Given the description of an element on the screen output the (x, y) to click on. 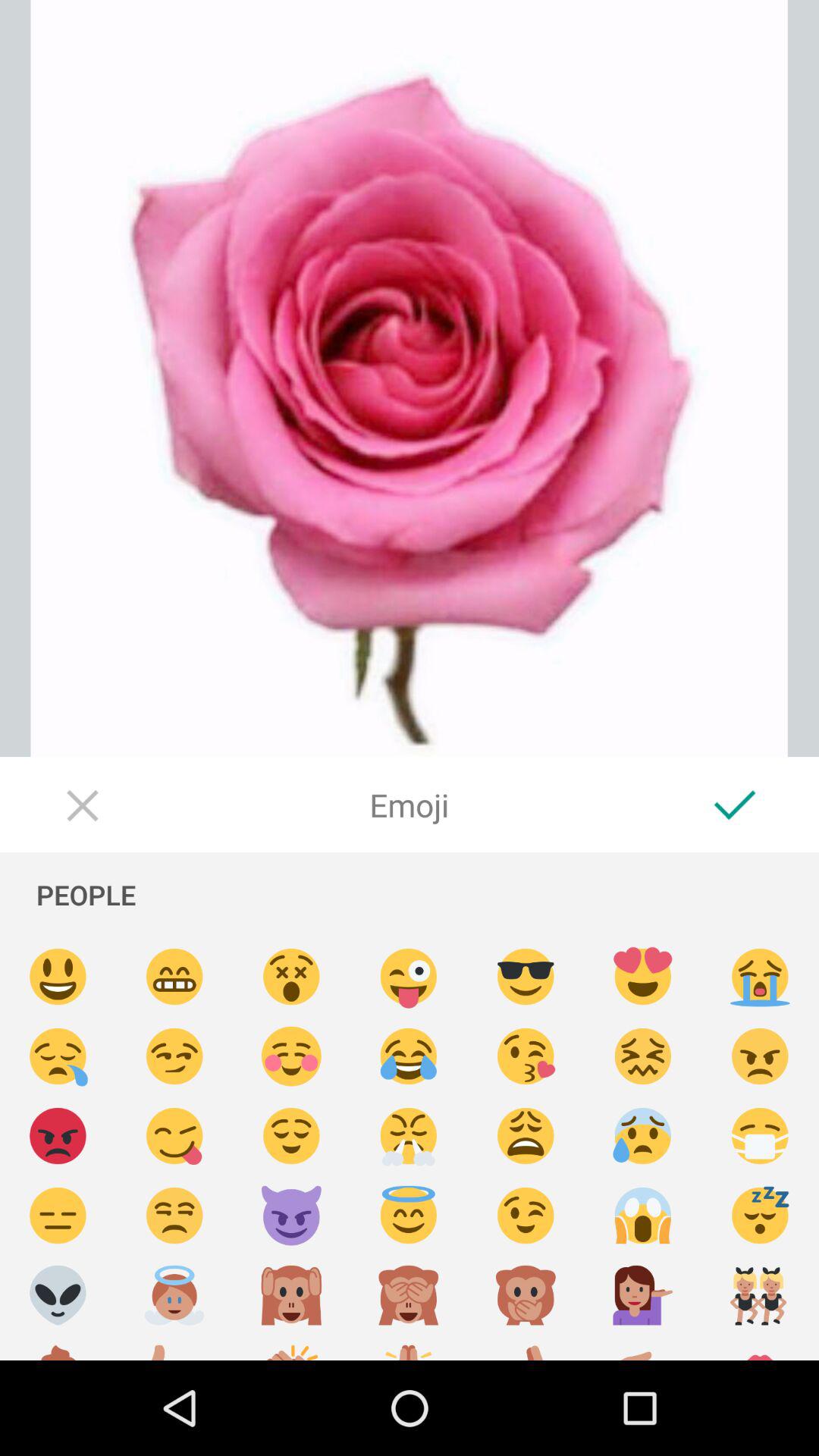
insert emoji (174, 1056)
